Given the description of an element on the screen output the (x, y) to click on. 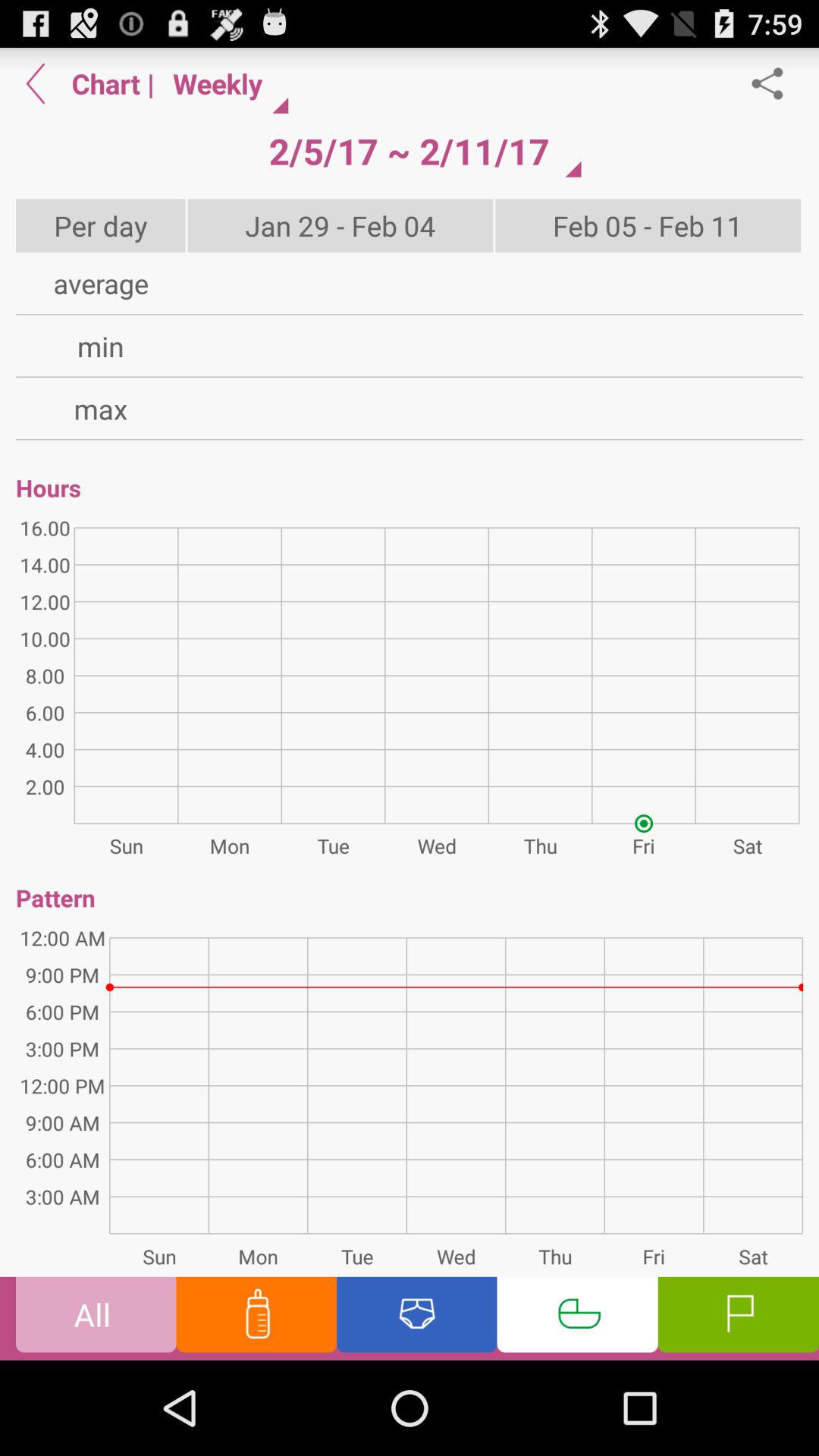
make note that baby ate (256, 1318)
